Given the description of an element on the screen output the (x, y) to click on. 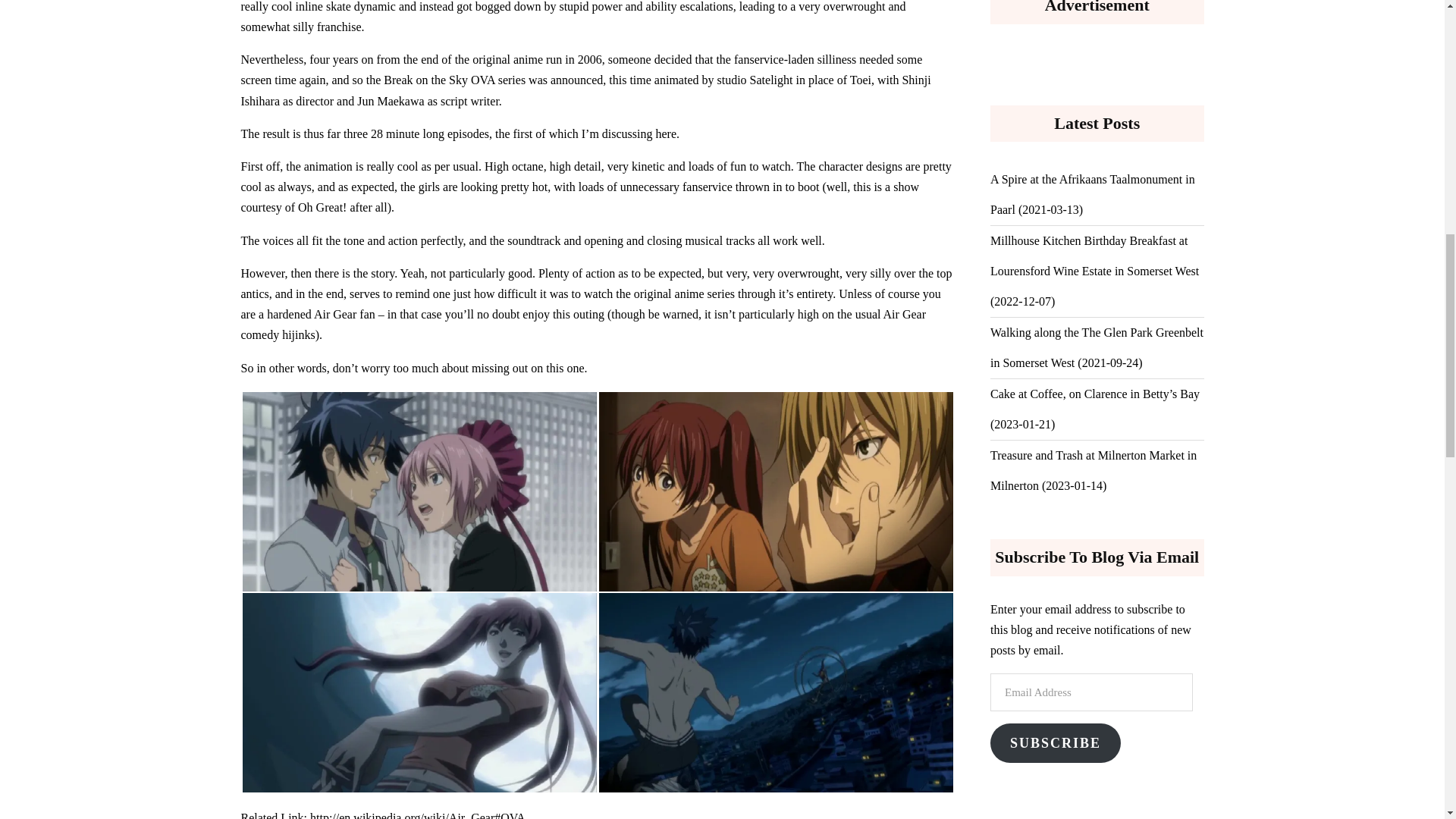
air gear break on the sky ova screenshot 3 (419, 692)
air gear break on the sky ova screenshot 2 (775, 491)
air gear break on the sky ova screenshot 1 (419, 491)
air gear break on the sky ova screenshot 4 (775, 692)
